Given the description of an element on the screen output the (x, y) to click on. 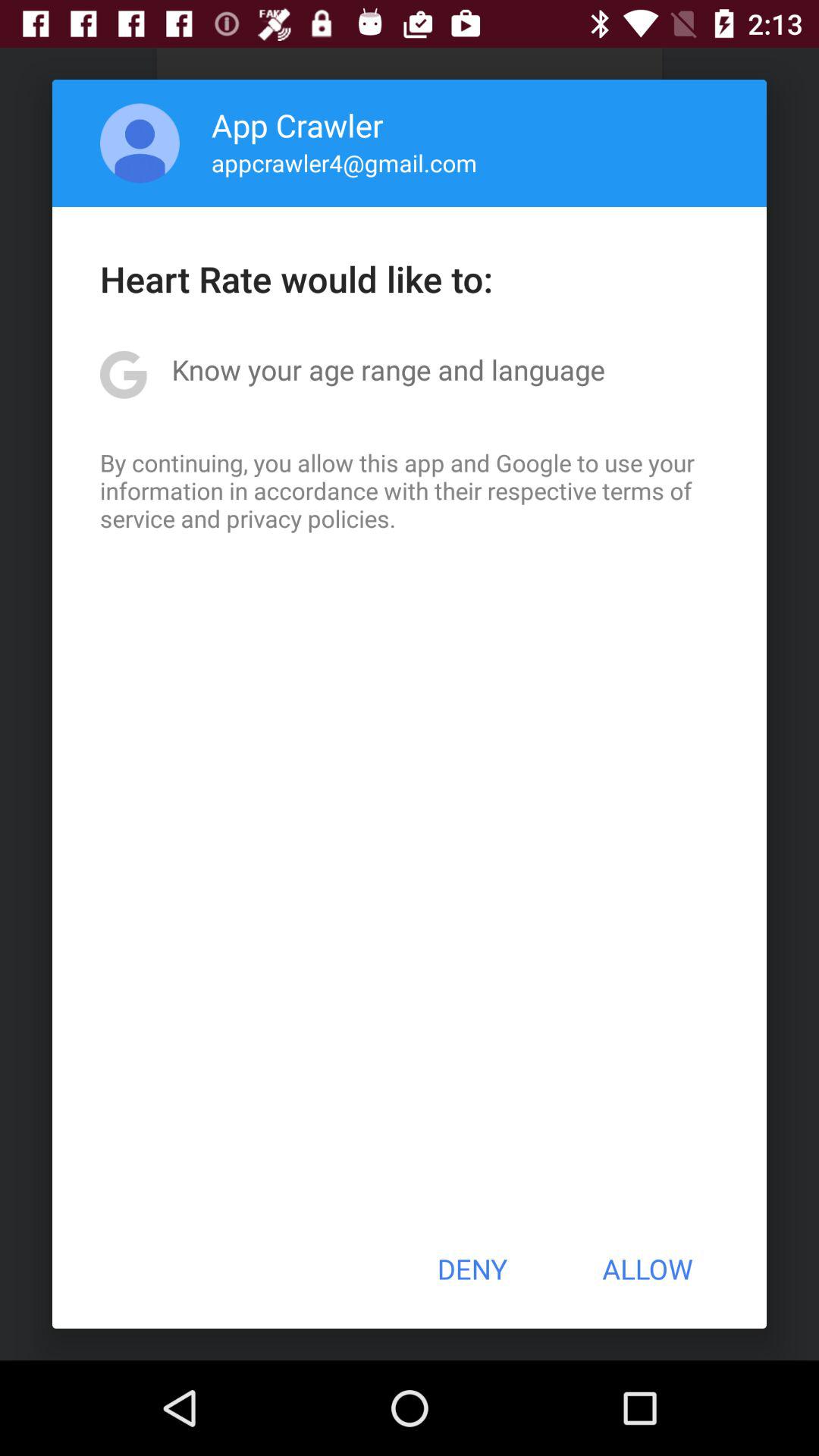
launch item above the heart rate would icon (344, 162)
